Given the description of an element on the screen output the (x, y) to click on. 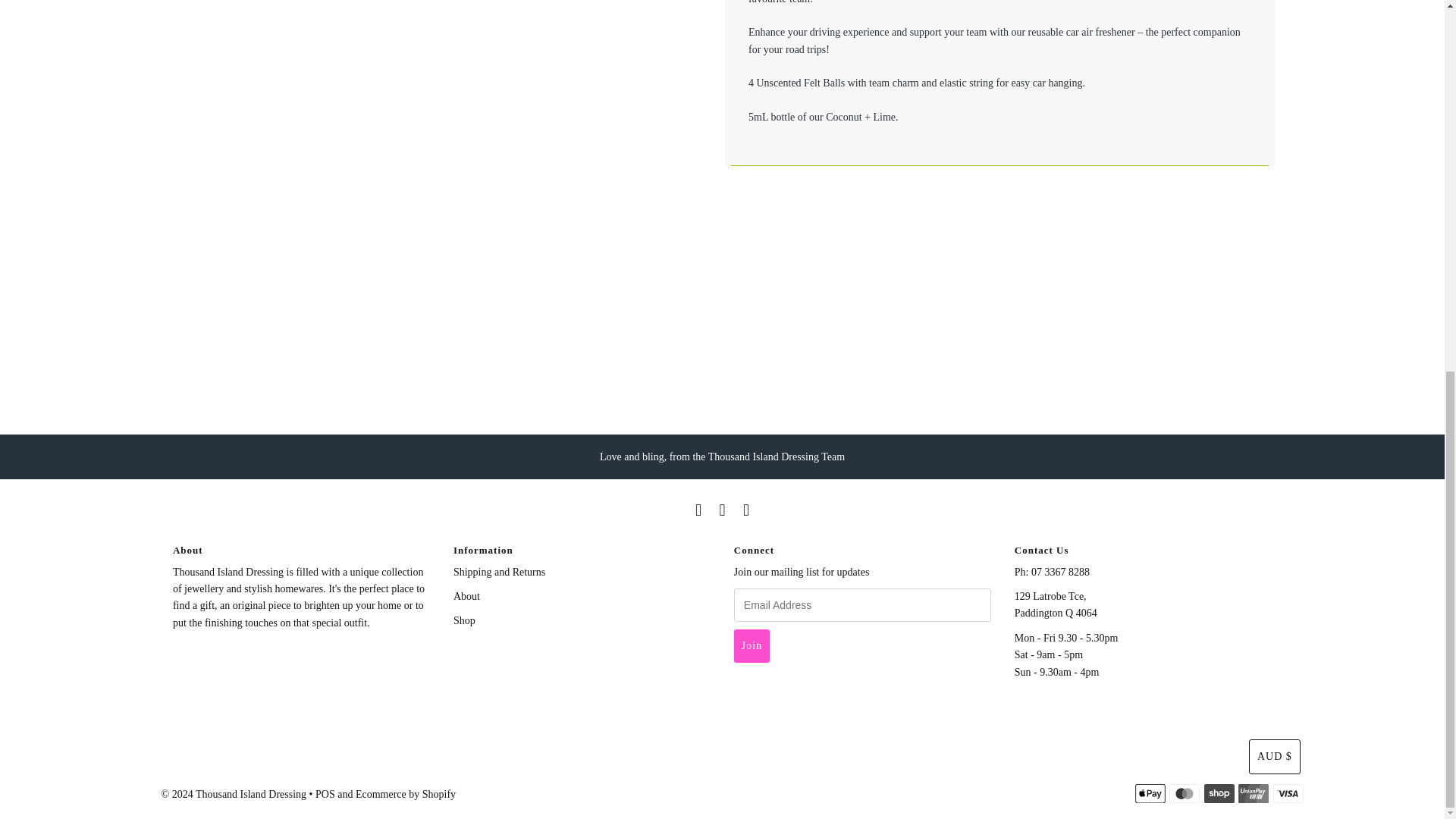
About Us (466, 595)
All collections (464, 620)
Shop Pay (1219, 793)
Mastercard (1184, 793)
Apple Pay (1150, 793)
Visa (1287, 793)
Shipping (498, 572)
Union Pay (1253, 793)
Join (751, 645)
